Given the description of an element on the screen output the (x, y) to click on. 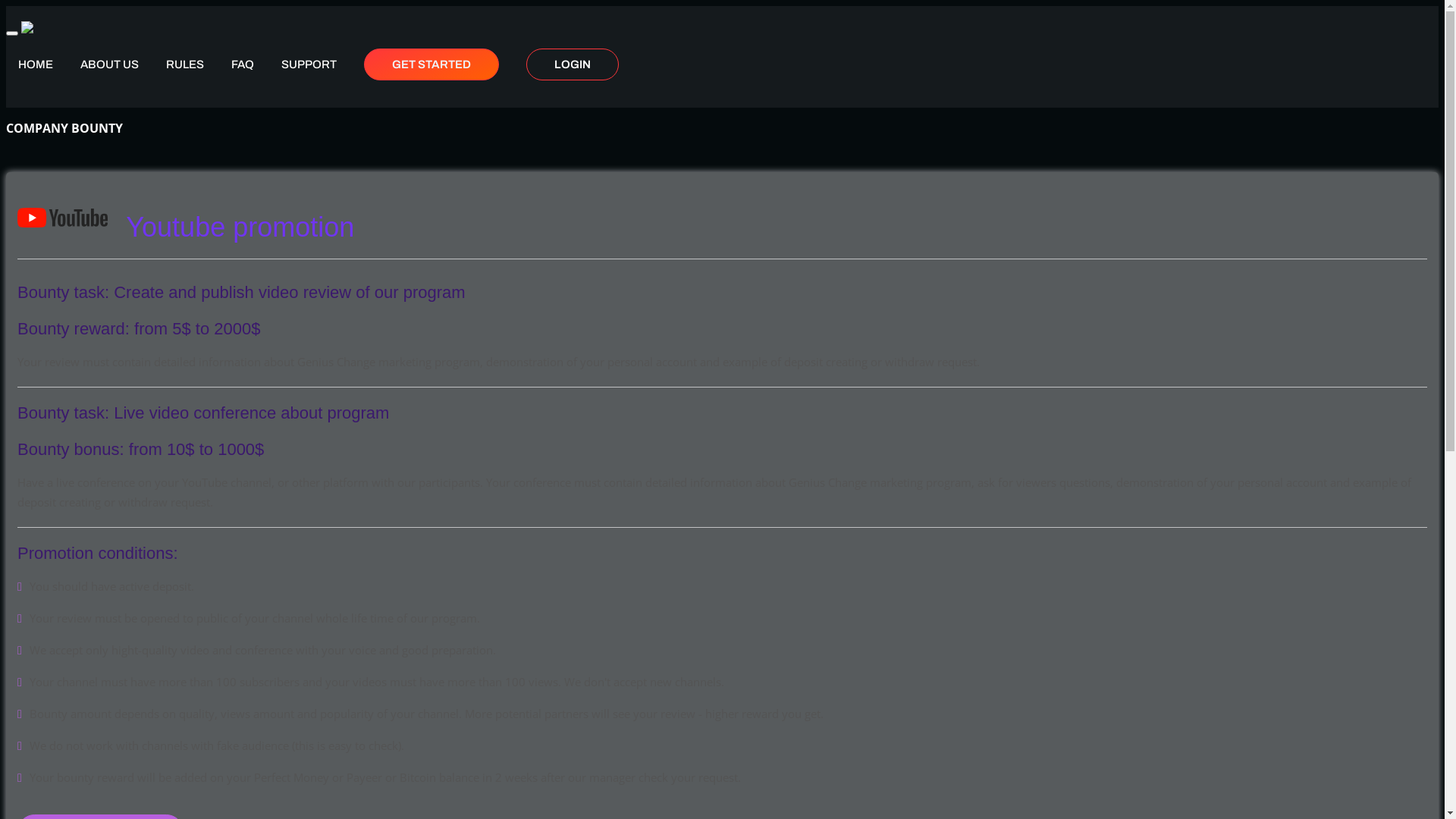
ABOUT US Element type: text (109, 64)
LOGIN Element type: text (572, 64)
RULES Element type: text (184, 64)
HOME Element type: text (35, 64)
GET STARTED Element type: text (431, 64)
FAQ Element type: text (242, 64)
SUPPORT Element type: text (308, 64)
